Given the description of an element on the screen output the (x, y) to click on. 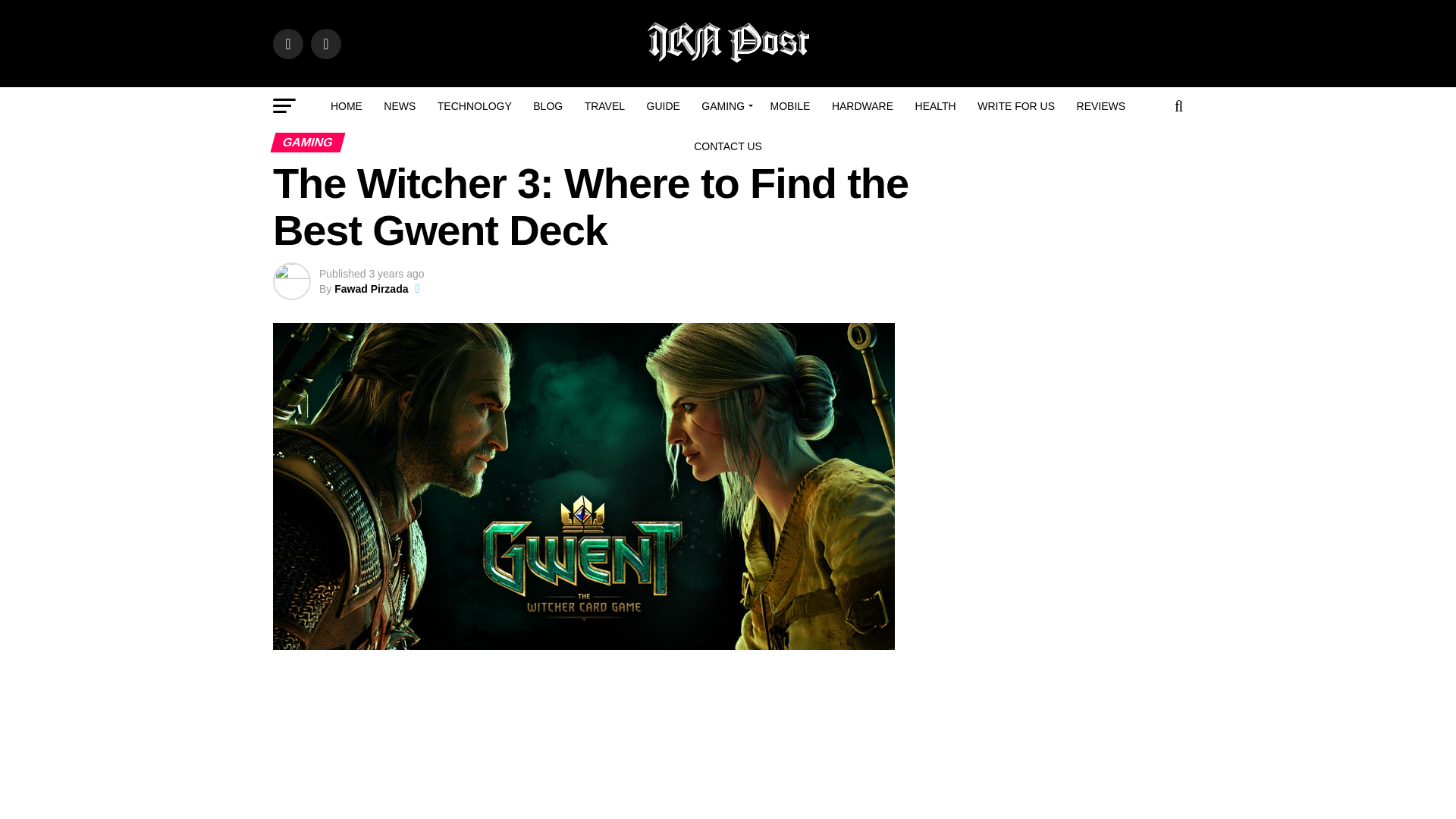
GAMING (725, 105)
TECHNOLOGY (474, 105)
HOME (346, 105)
TRAVEL (604, 105)
NEWS (399, 105)
Posts by Fawad Pirzada (370, 288)
BLOG (548, 105)
GUIDE (662, 105)
